Given the description of an element on the screen output the (x, y) to click on. 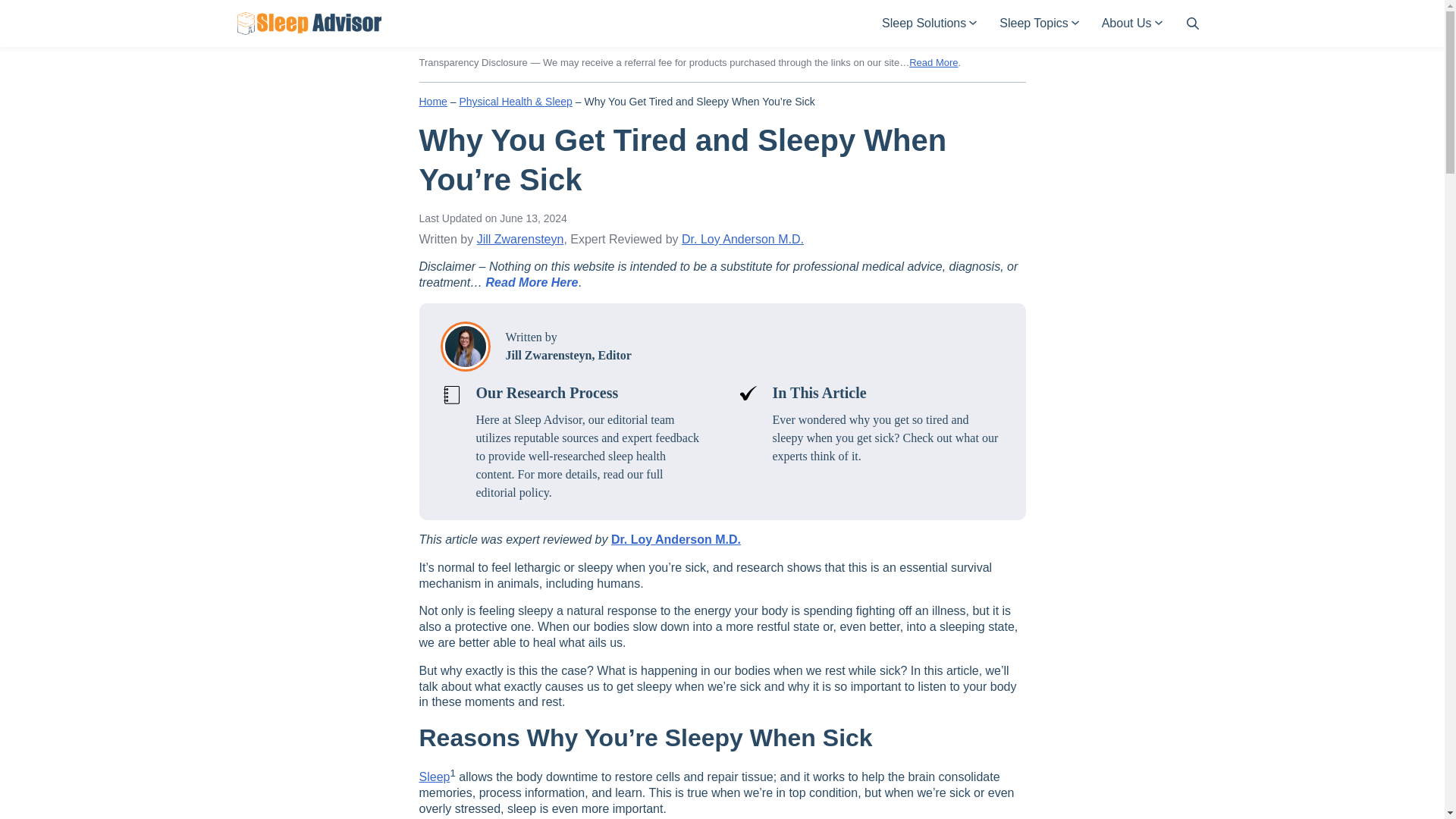
Sleep Solutions (928, 23)
Dr. Loy Anderson M.D. (742, 238)
Jill Zwarensteyn (520, 238)
